Given the description of an element on the screen output the (x, y) to click on. 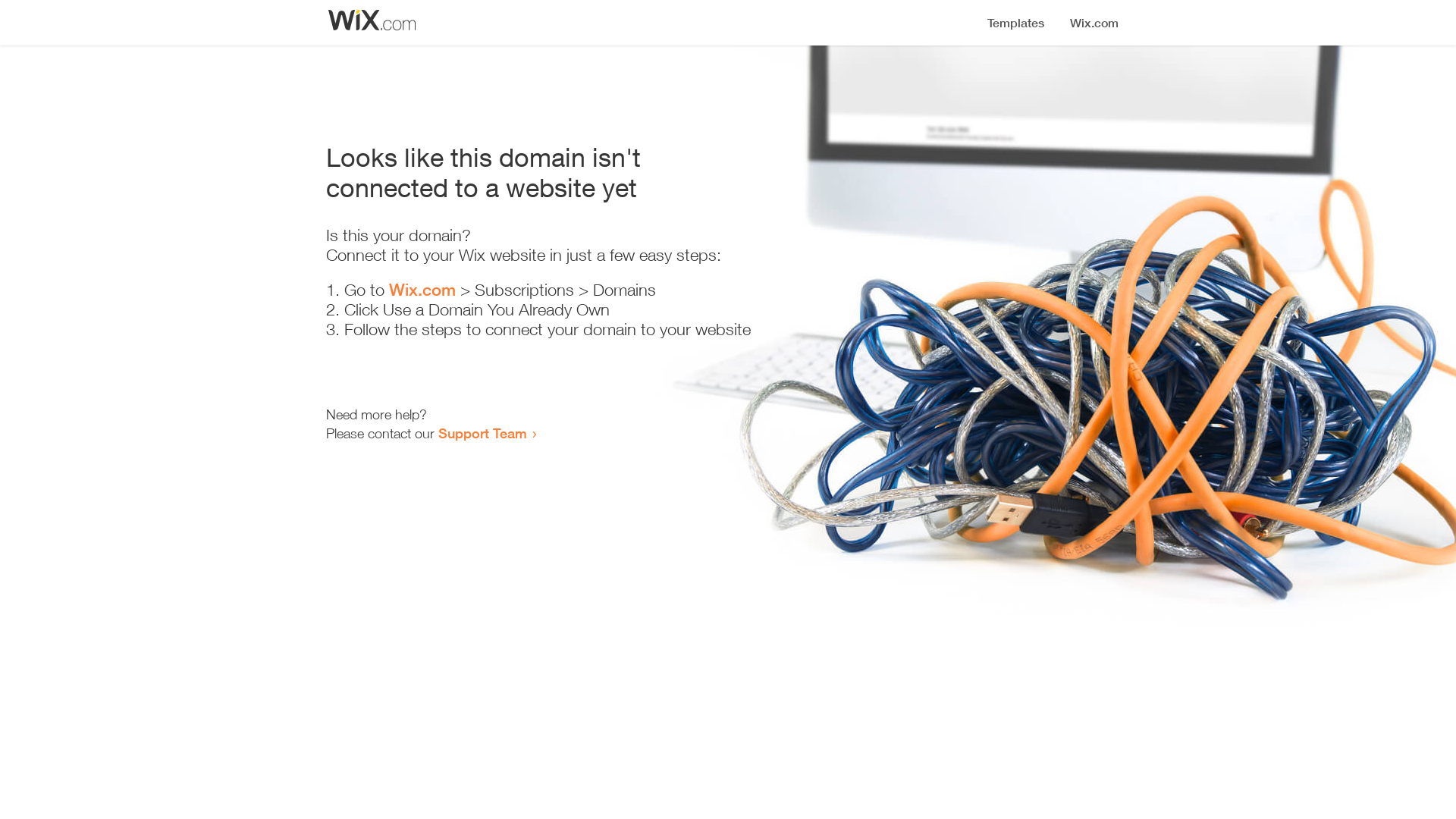
Support Team Element type: text (482, 432)
Wix.com Element type: text (422, 289)
